Given the description of an element on the screen output the (x, y) to click on. 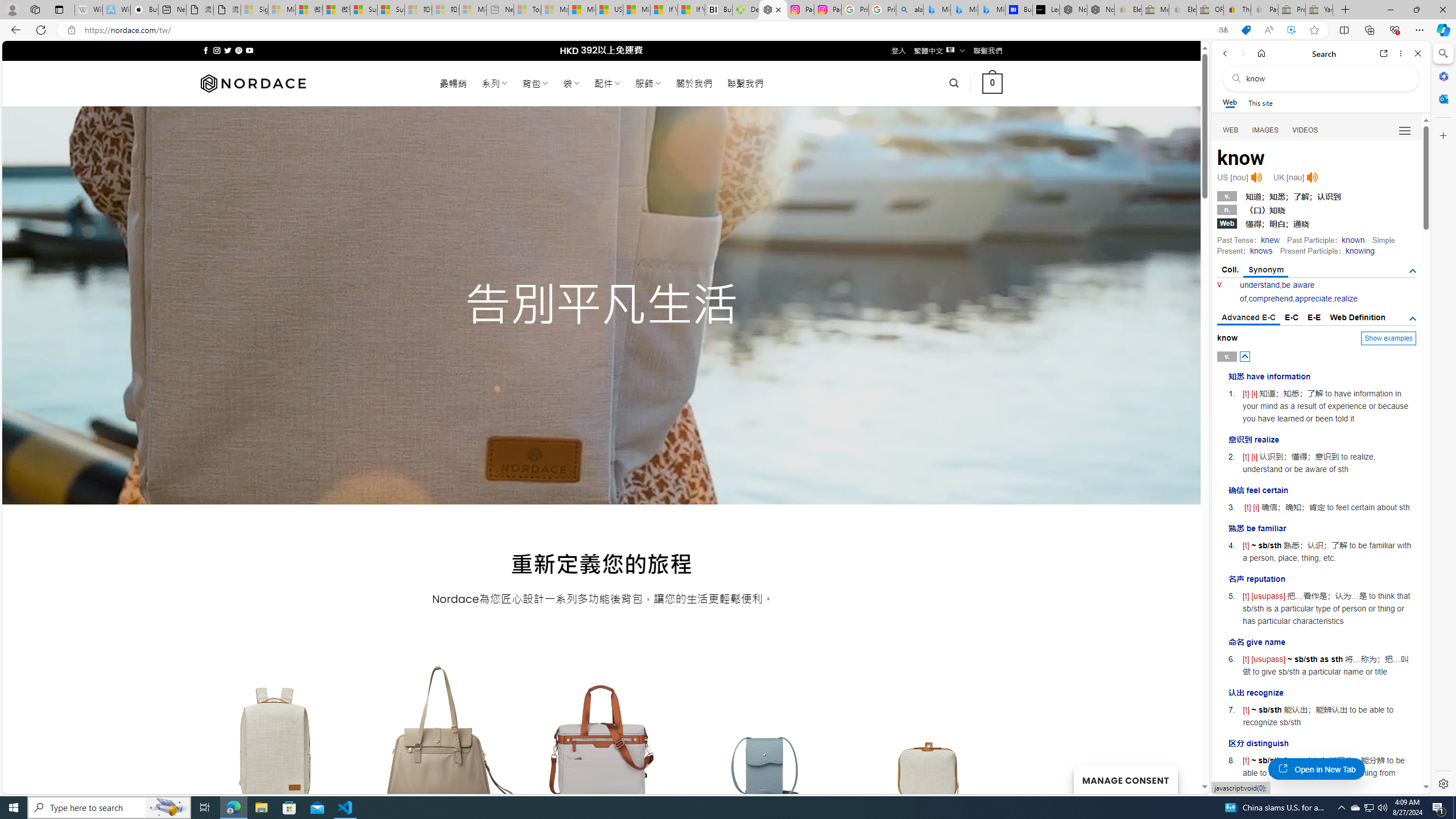
Microsoft Bing Travel - Flights from Hong Kong to Bangkok (936, 9)
Follow on Pinterest (237, 50)
WEB (1231, 130)
E-C (1291, 317)
Web Definition (1357, 317)
Enhance video (1291, 29)
Microsoft Services Agreement - Sleeping (281, 9)
